Given the description of an element on the screen output the (x, y) to click on. 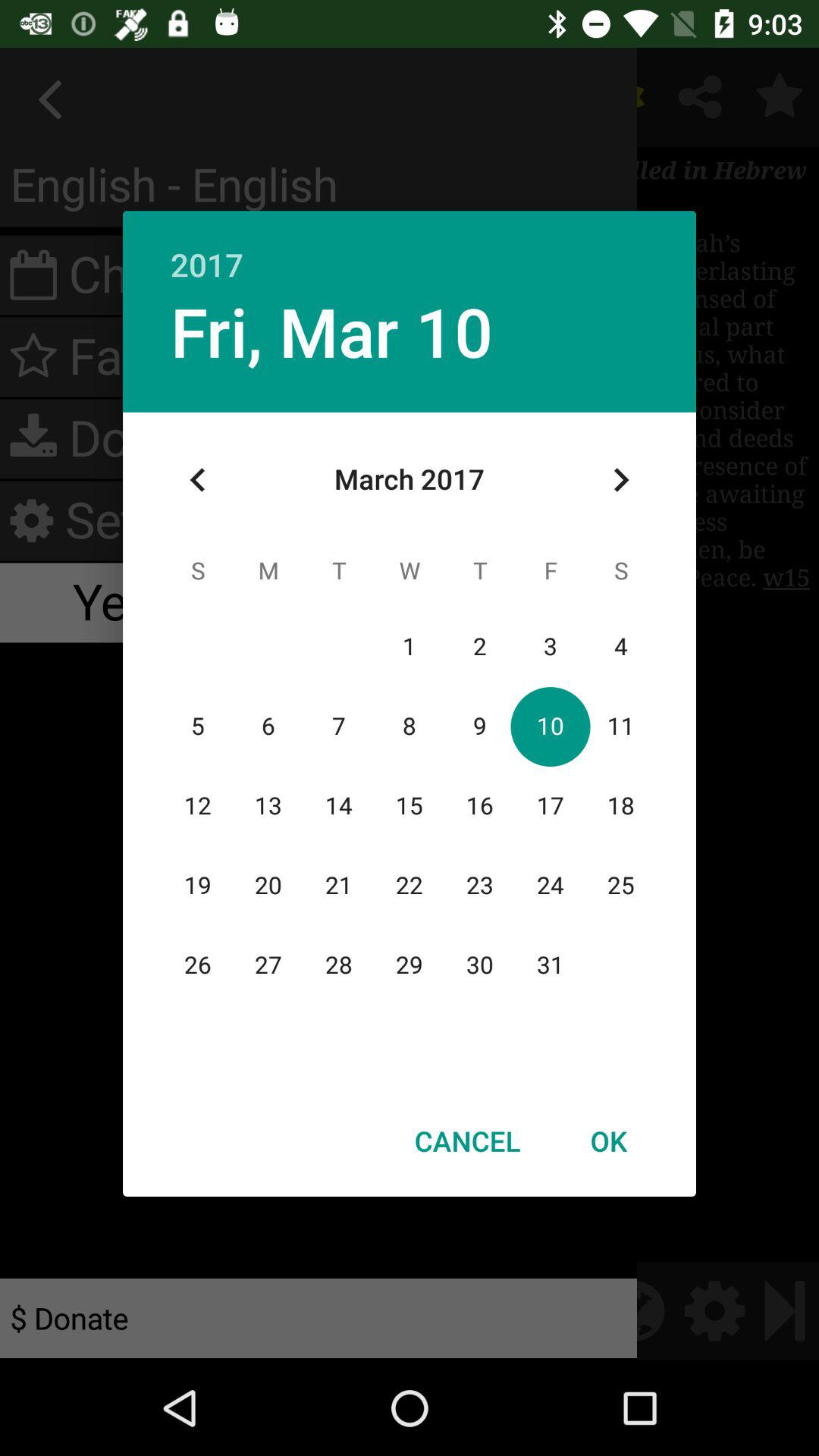
choose the 2017 item (409, 248)
